Given the description of an element on the screen output the (x, y) to click on. 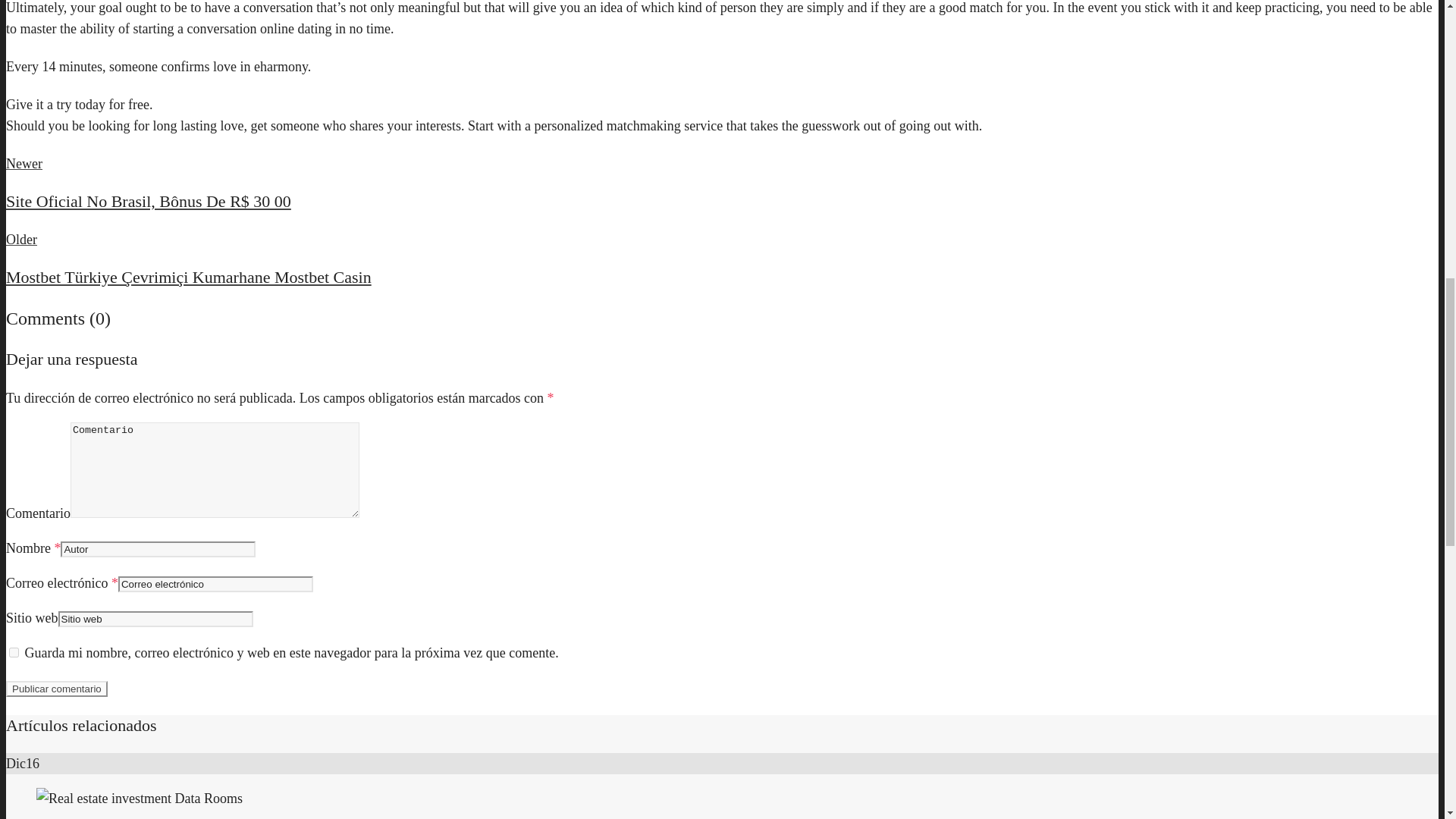
Publicar comentario (56, 688)
Publicar comentario (56, 688)
yes (13, 652)
